Given the description of an element on the screen output the (x, y) to click on. 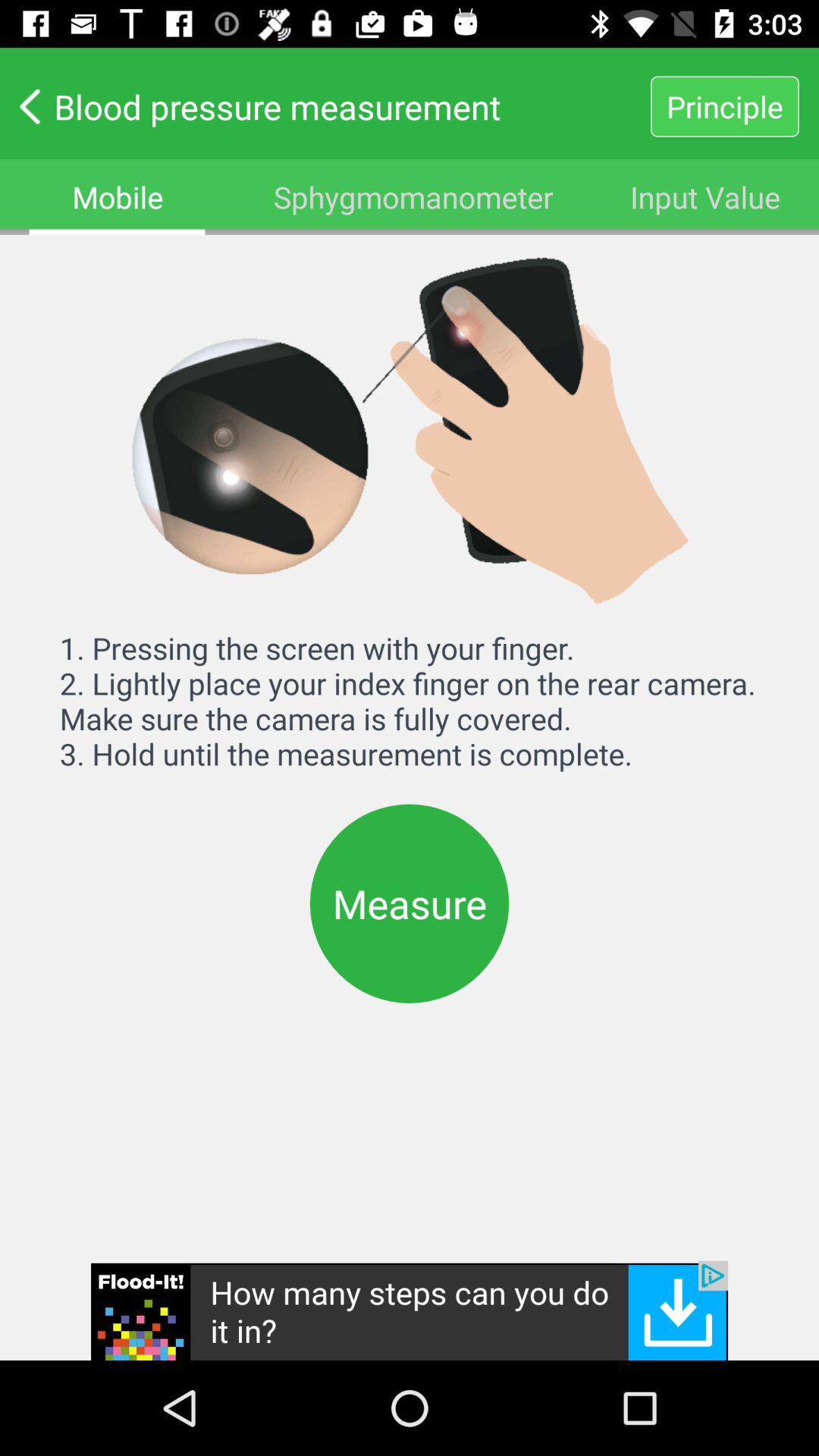
advertisement (409, 1310)
